Given the description of an element on the screen output the (x, y) to click on. 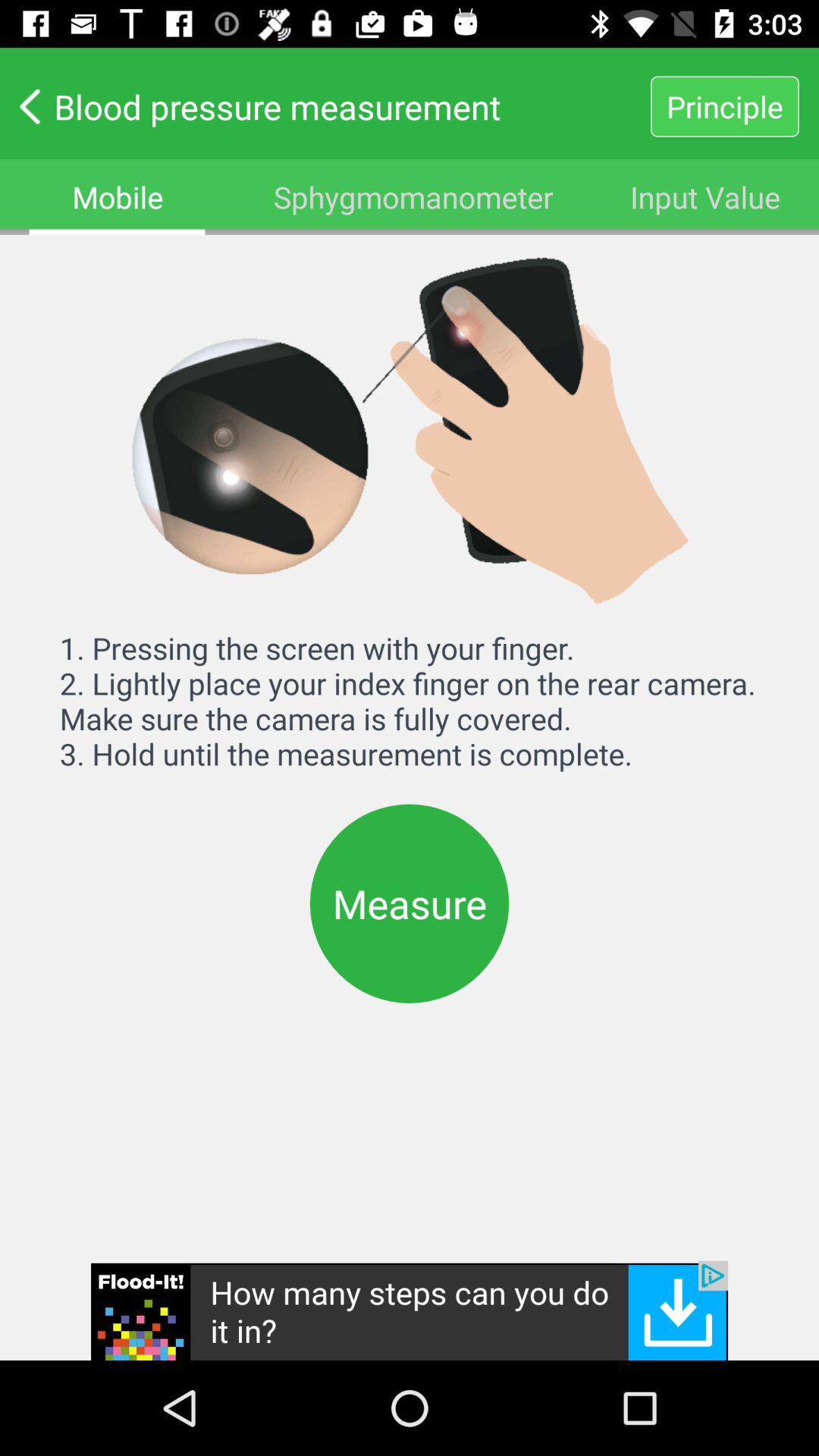
advertisement (409, 1310)
